Given the description of an element on the screen output the (x, y) to click on. 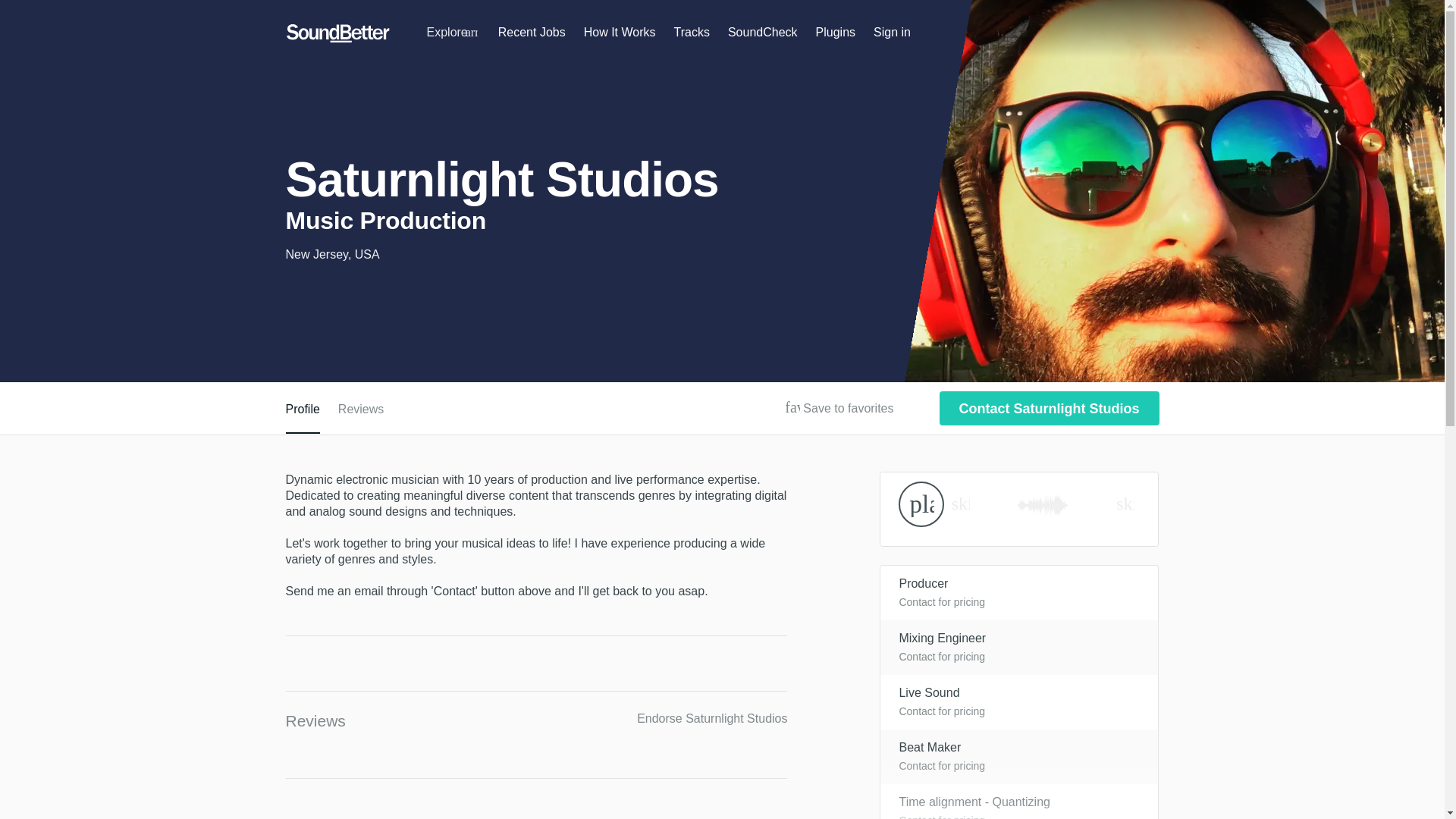
SoundBetter (337, 33)
